Given the description of an element on the screen output the (x, y) to click on. 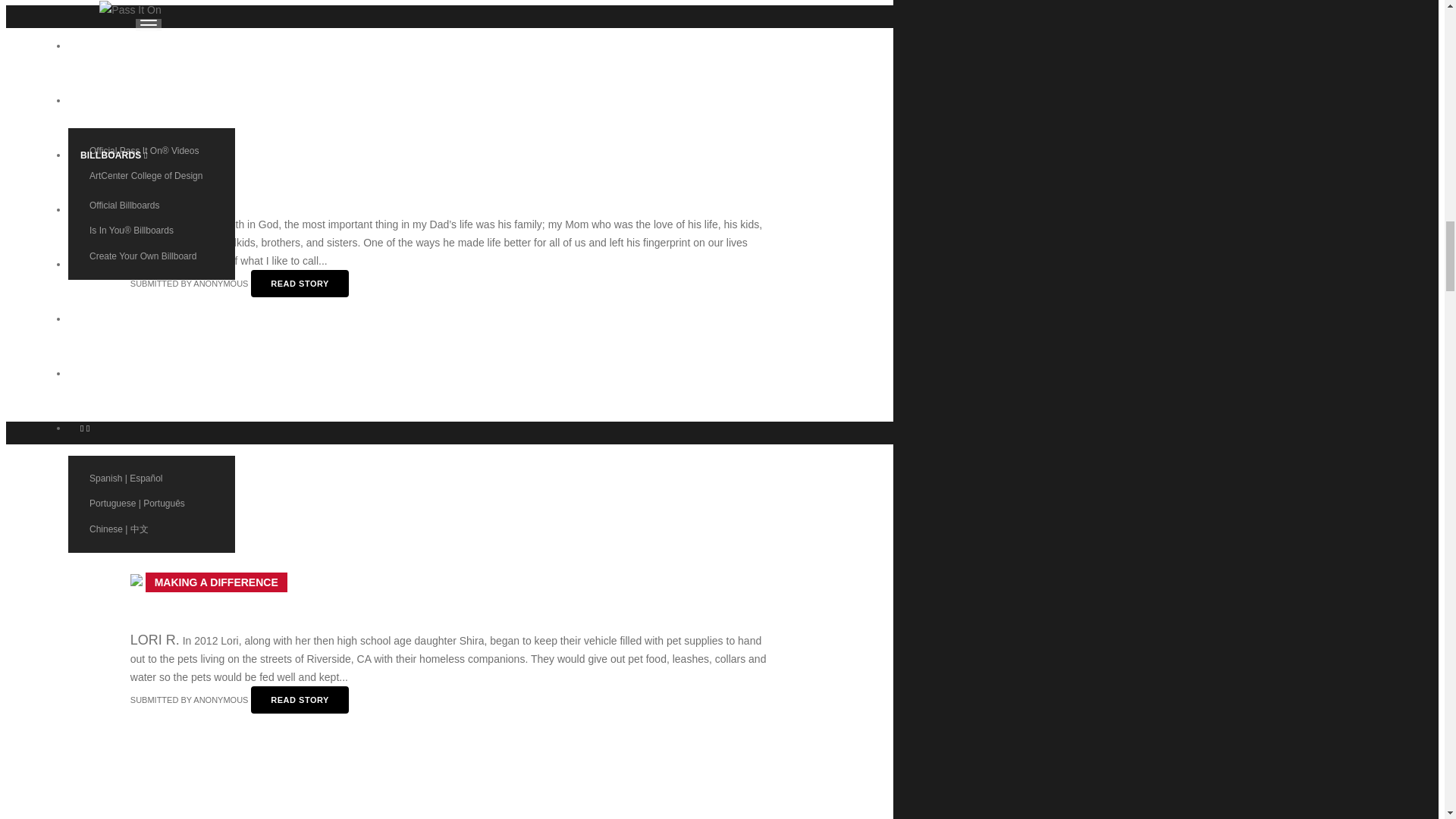
MAKING A DIFFERENCE (215, 581)
READ STORY (299, 283)
FAMILY (158, 165)
